Given the description of an element on the screen output the (x, y) to click on. 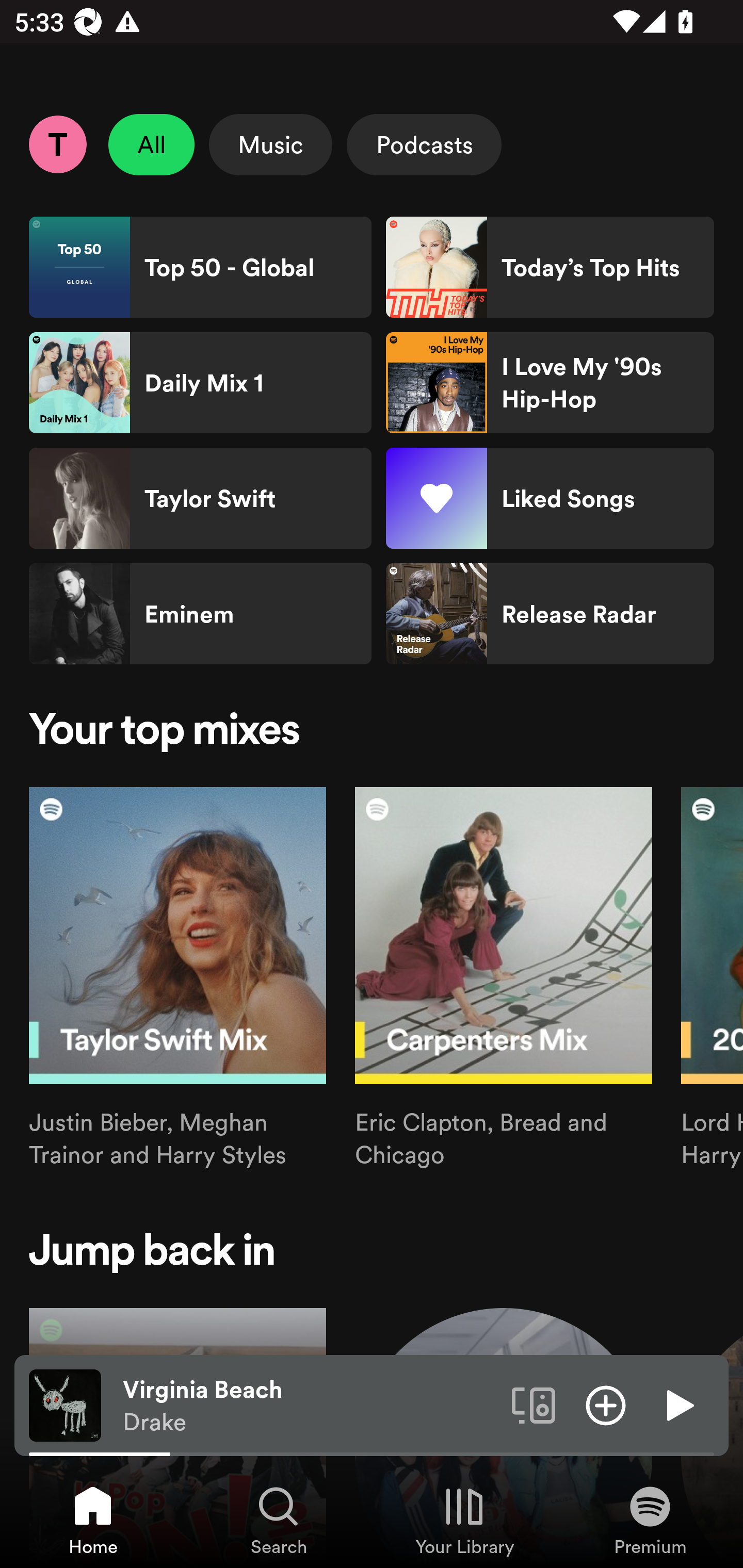
Profile (57, 144)
All Unselect All (151, 144)
Music Select Music (270, 144)
Podcasts Select Podcasts (423, 144)
Top 50 - Global Shortcut Top 50 - Global (199, 267)
Today’s Top Hits Shortcut Today’s Top Hits (549, 267)
Daily Mix 1 Shortcut Daily Mix 1 (199, 382)
Taylor Swift Shortcut Taylor Swift (199, 498)
Liked Songs Shortcut Liked Songs (549, 498)
Eminem Shortcut Eminem (199, 613)
Release Radar Shortcut Release Radar (549, 613)
Virginia Beach Drake (309, 1405)
The cover art of the currently playing track (64, 1404)
Connect to a device. Opens the devices menu (533, 1404)
Add item (605, 1404)
Play (677, 1404)
Home, Tab 1 of 4 Home Home (92, 1519)
Search, Tab 2 of 4 Search Search (278, 1519)
Your Library, Tab 3 of 4 Your Library Your Library (464, 1519)
Premium, Tab 4 of 4 Premium Premium (650, 1519)
